Given the description of an element on the screen output the (x, y) to click on. 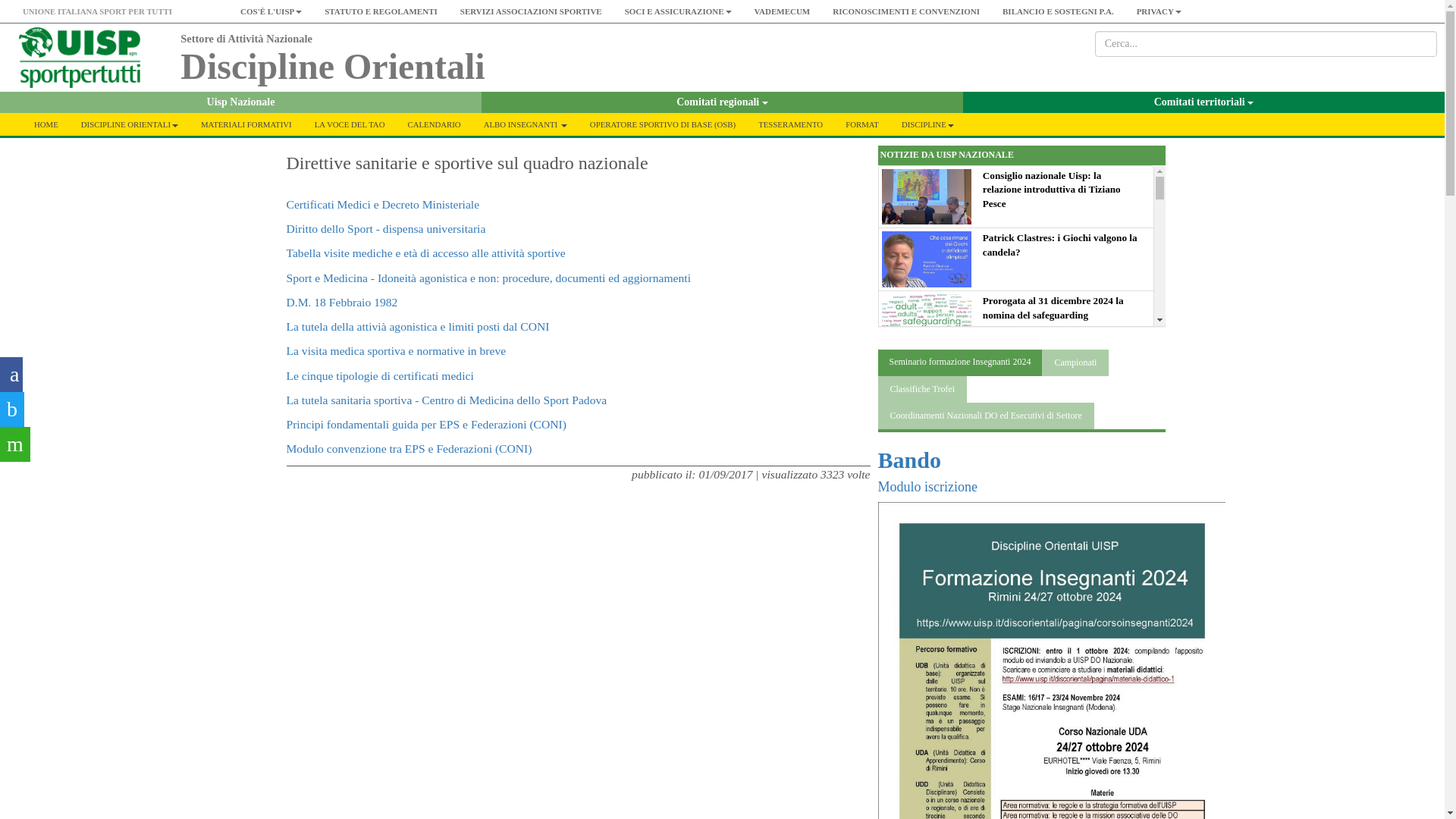
VADEMECUM (782, 11)
RICONOSCIMENTI E CONVENZIONI (906, 11)
SOCI E ASSICURAZIONE (677, 11)
STATUTO E REGOLAMENTI (380, 11)
BILANCIO E SOSTEGNI P.A. (1058, 11)
certificati medici e dm (383, 204)
UNIONE ITALIANA SPORT PER TUTTI (97, 11)
diritto dello sport (386, 228)
PRIVACY (1158, 11)
SERVIZI ASSOCIAZIONI SPORTIVE (530, 11)
Uisp Nazionale (240, 102)
Comitati regionali (721, 102)
dm 18 febbraio (341, 301)
